Given the description of an element on the screen output the (x, y) to click on. 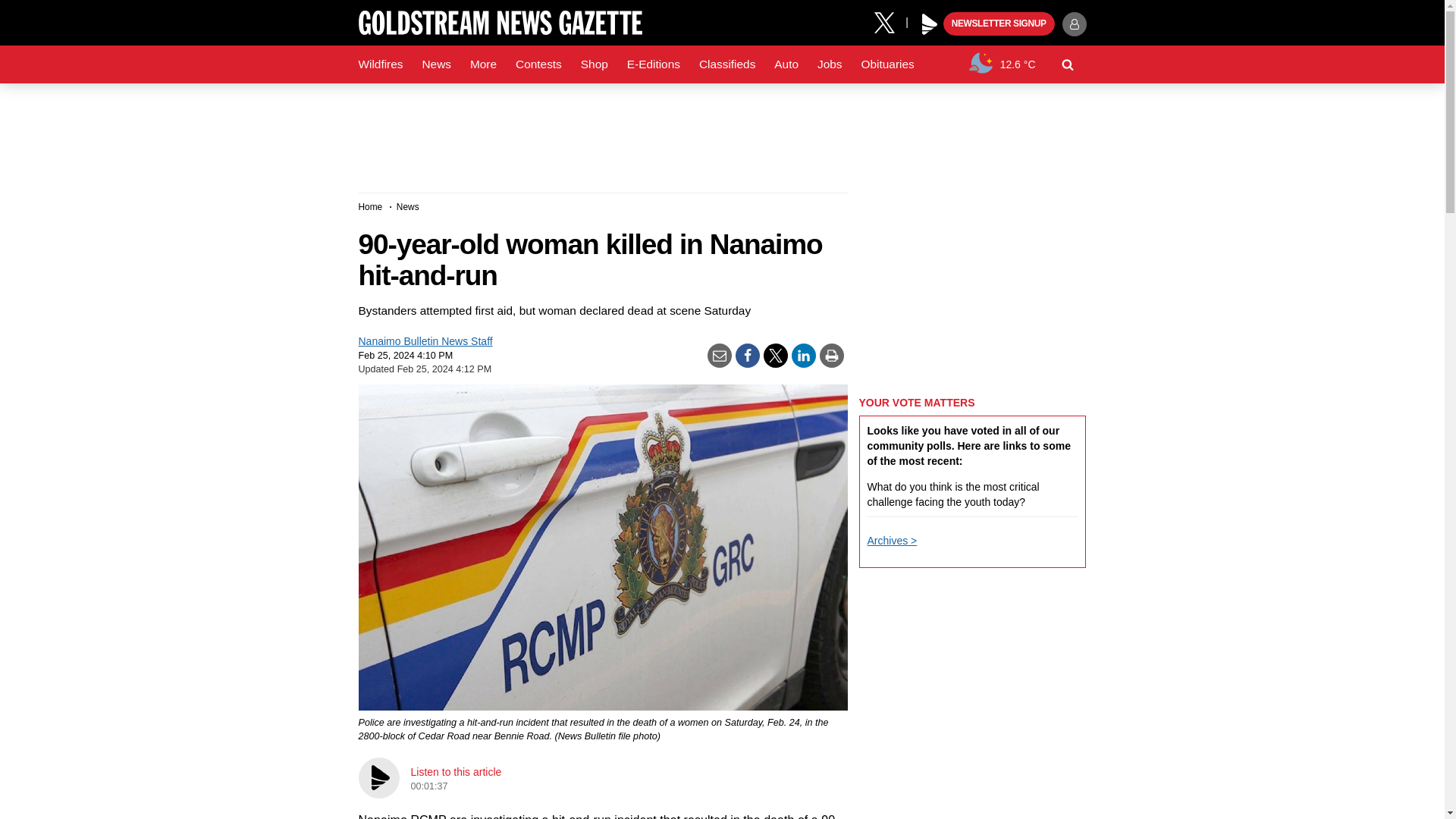
X (889, 21)
NEWSLETTER SIGNUP (998, 24)
Play (929, 24)
News (435, 64)
Wildfires (380, 64)
Black Press Media (929, 24)
